Given the description of an element on the screen output the (x, y) to click on. 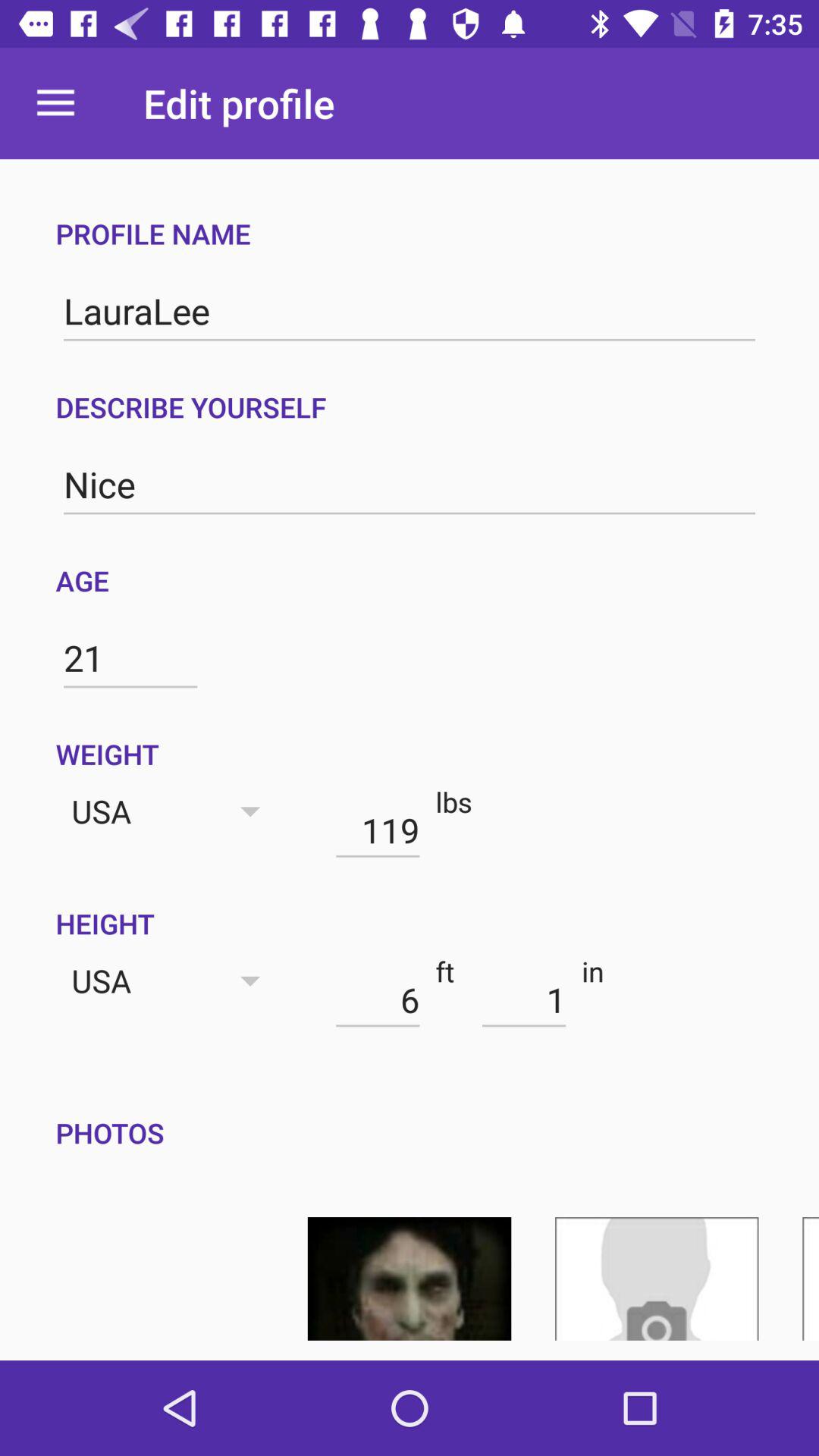
turn on the icon below weight item (377, 830)
